Given the description of an element on the screen output the (x, y) to click on. 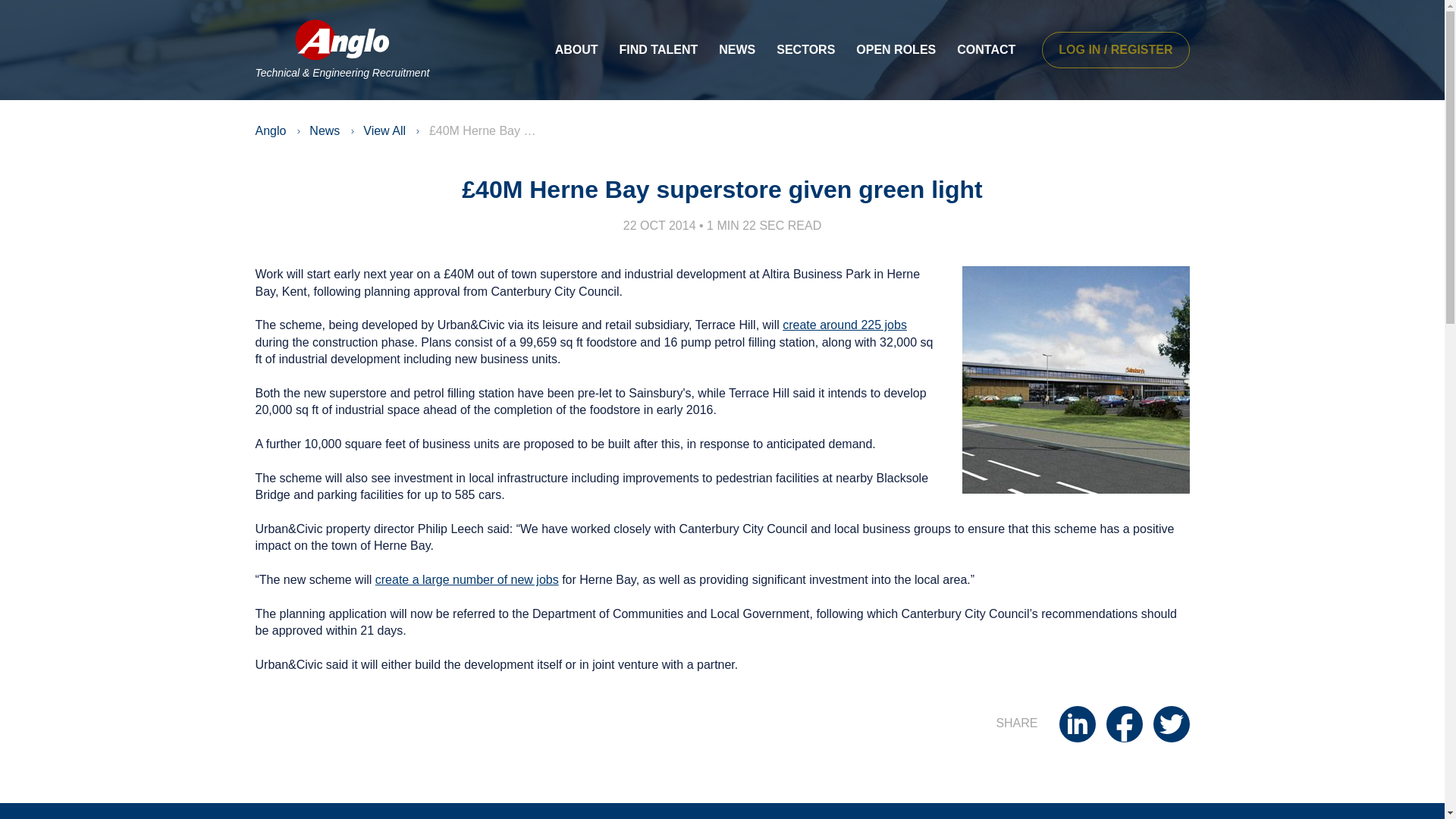
Anglo (269, 130)
CONTACT (986, 49)
NEWS (736, 49)
OPEN ROLES (895, 49)
SECTORS (805, 49)
View All (384, 130)
create around 225 jobs (845, 324)
ABOUT (576, 49)
News (323, 130)
create a large number of new jobs (467, 579)
